Given the description of an element on the screen output the (x, y) to click on. 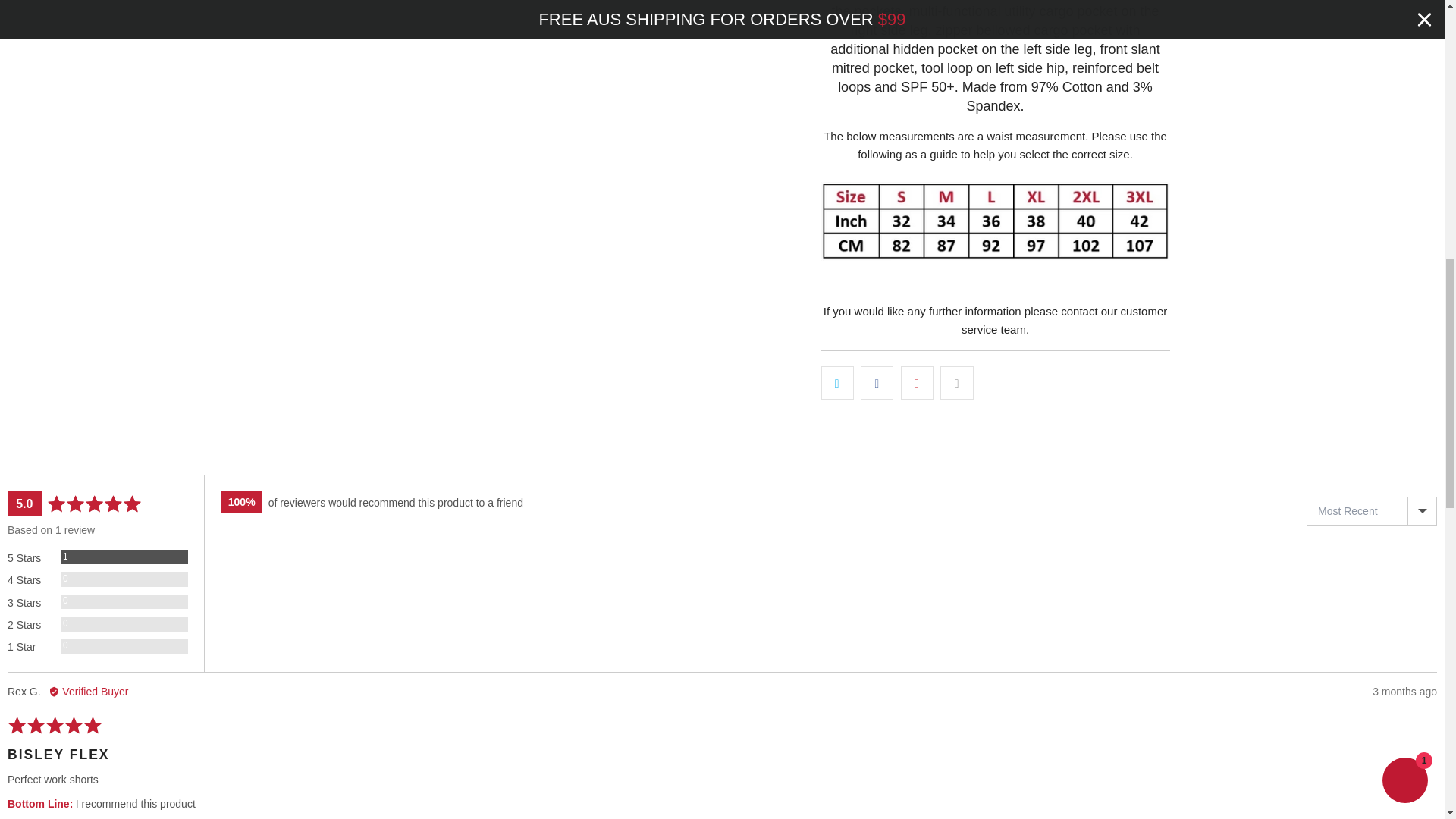
Share this on Twitter (837, 382)
Share this on Pinterest (917, 382)
Email this to a friend (956, 382)
Share this on Facebook (876, 382)
